Given the description of an element on the screen output the (x, y) to click on. 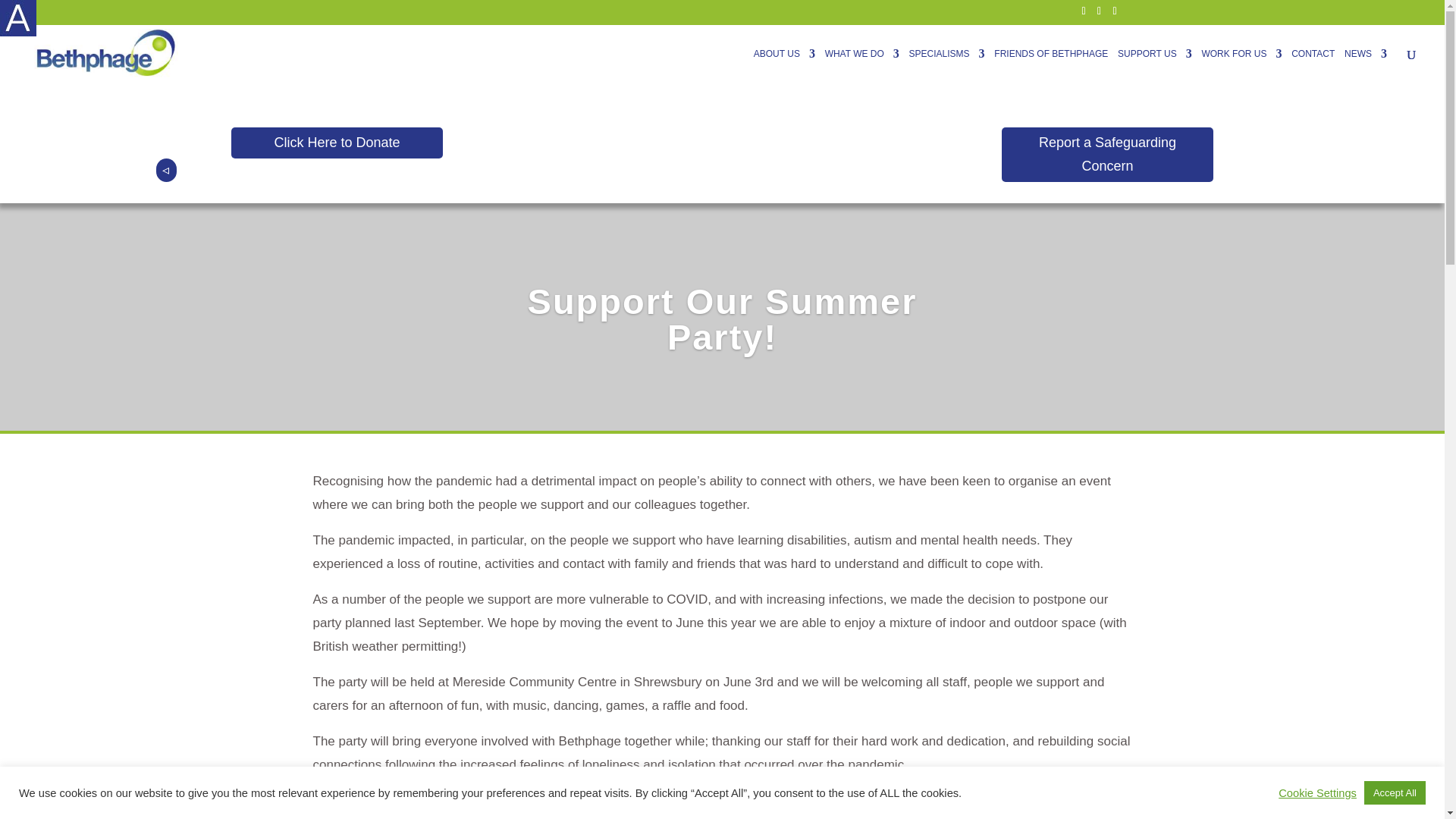
SPECIALISMS (946, 66)
Accessibility Helper sidebar (18, 18)
WHAT WE DO (862, 66)
ABOUT US (784, 66)
FRIENDS OF BETHPHAGE (1051, 66)
